Given the description of an element on the screen output the (x, y) to click on. 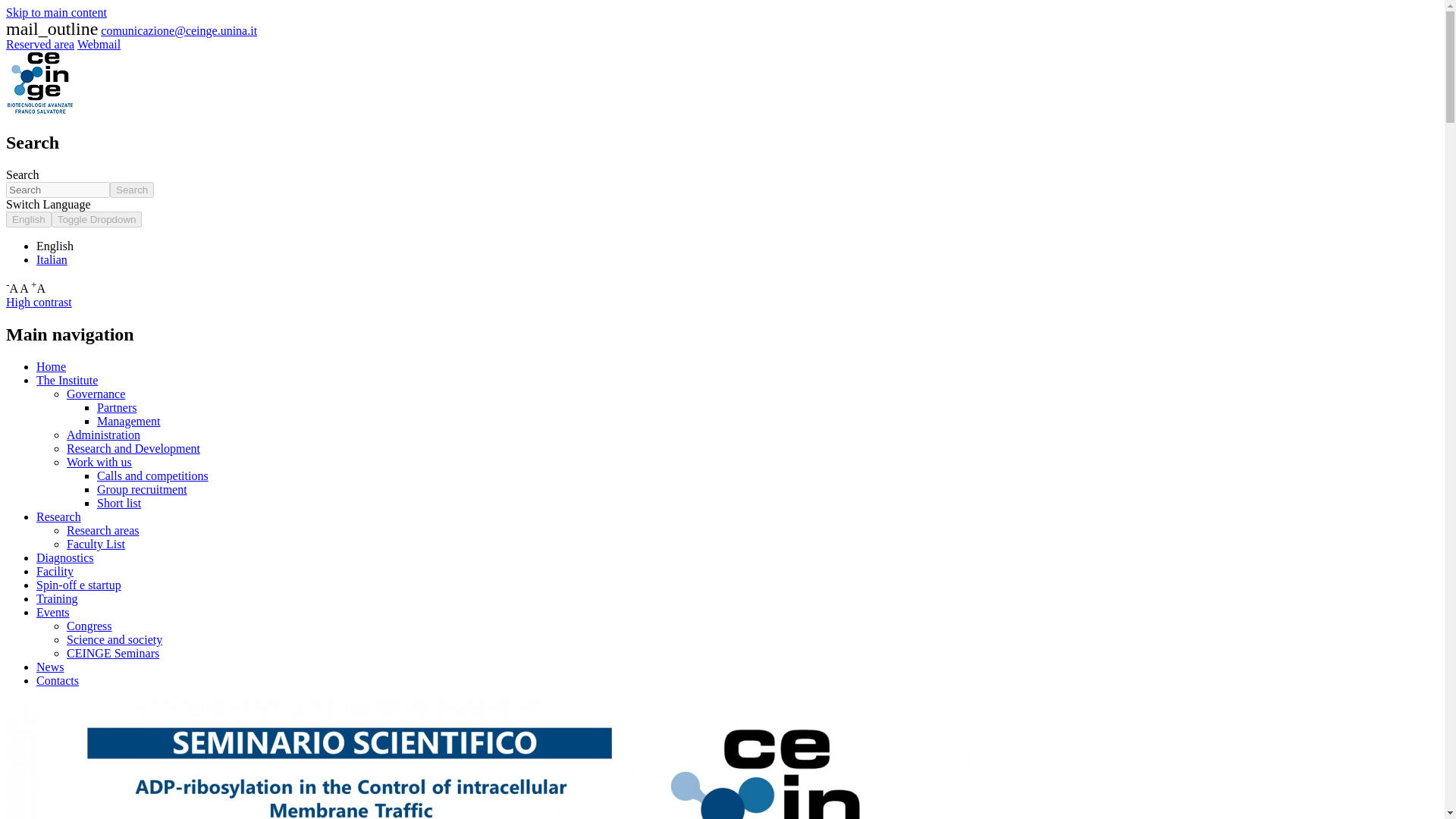
Italian (51, 259)
Webmail (98, 43)
Reserved area (39, 43)
Home (39, 110)
Research and Development (133, 448)
Home (50, 366)
Facility (55, 571)
Faculty List (95, 543)
High contrast (38, 301)
English (27, 219)
